Given the description of an element on the screen output the (x, y) to click on. 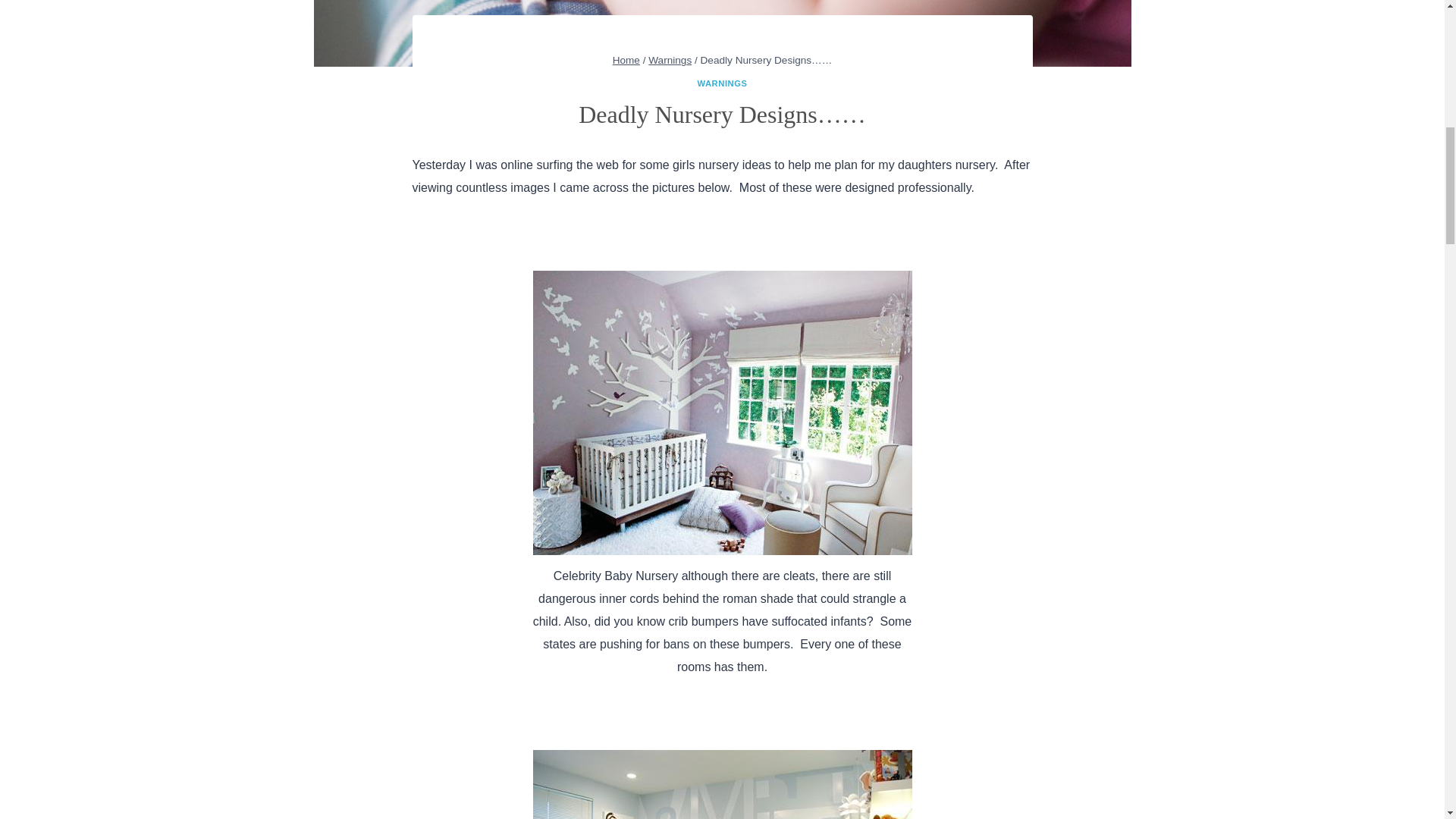
7.17.11-celebrity-baby-nursery-lavender-petitnest2 (721, 413)
Home (626, 60)
2008-08-05-abc-nursery1 (721, 784)
WARNINGS (721, 82)
Warnings (669, 60)
